Given the description of an element on the screen output the (x, y) to click on. 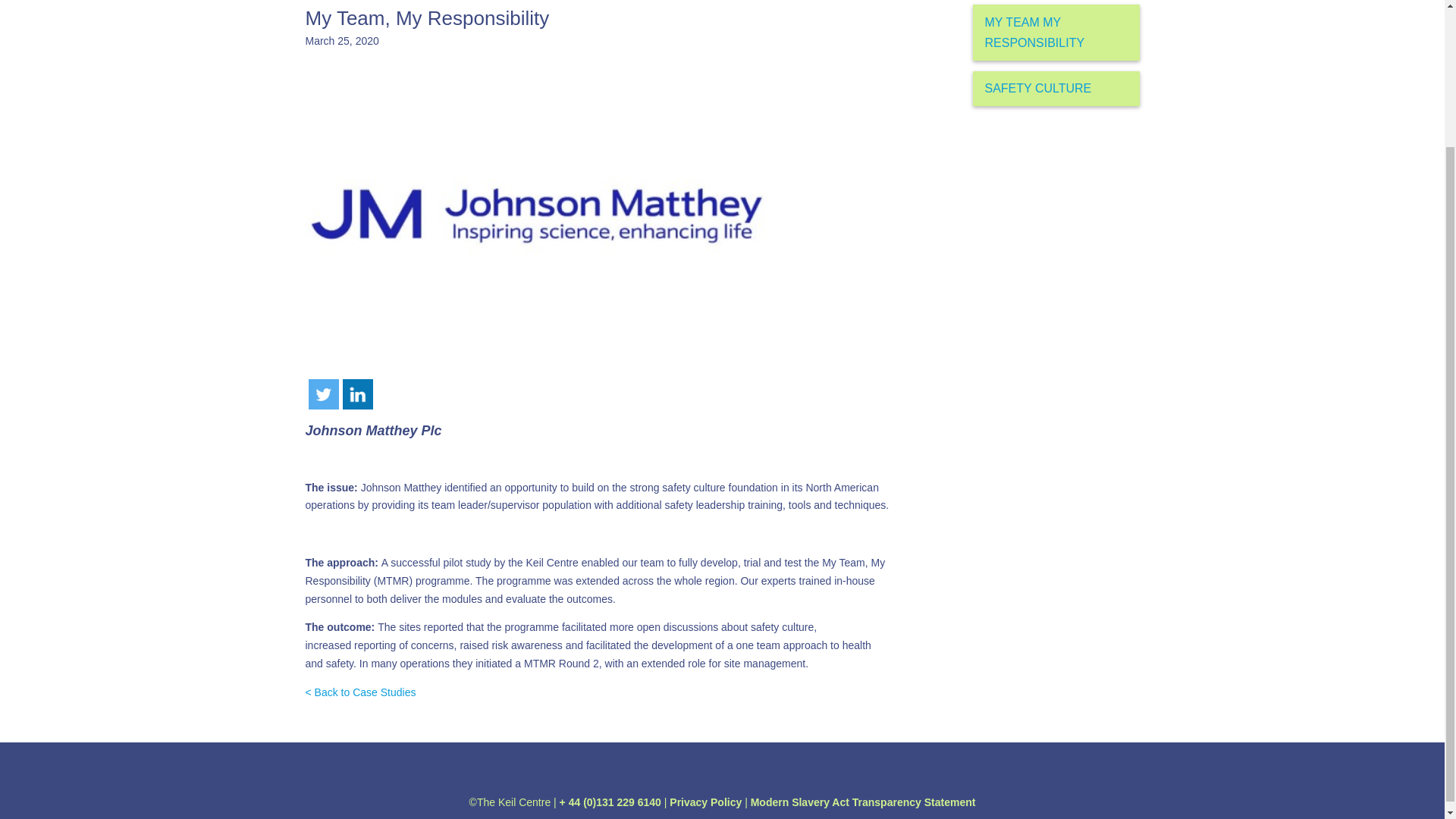
LinkedIn (357, 394)
Twitter (322, 394)
